Given the description of an element on the screen output the (x, y) to click on. 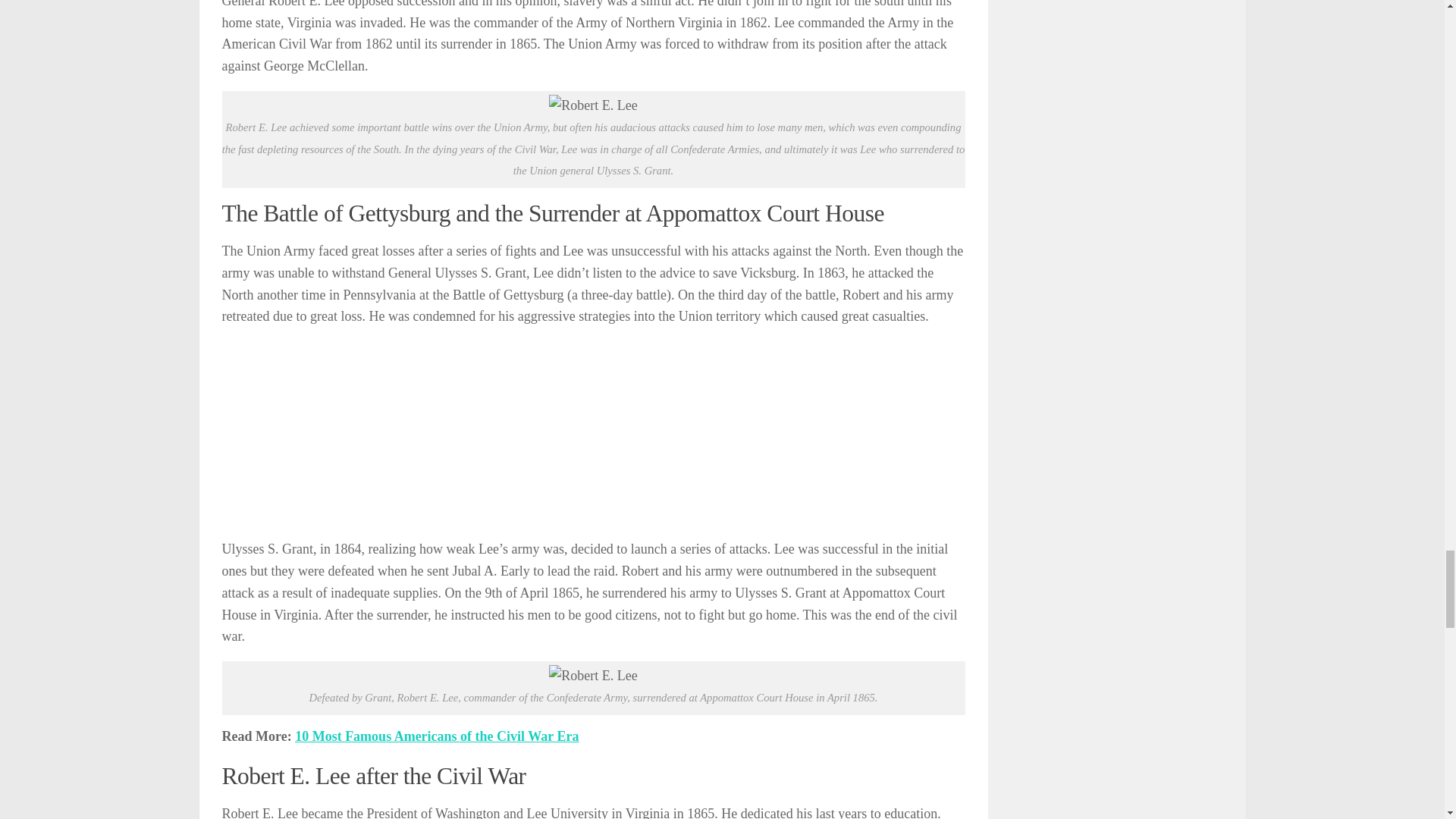
10 Most Famous Americans of the Civil War Era (436, 735)
